Given the description of an element on the screen output the (x, y) to click on. 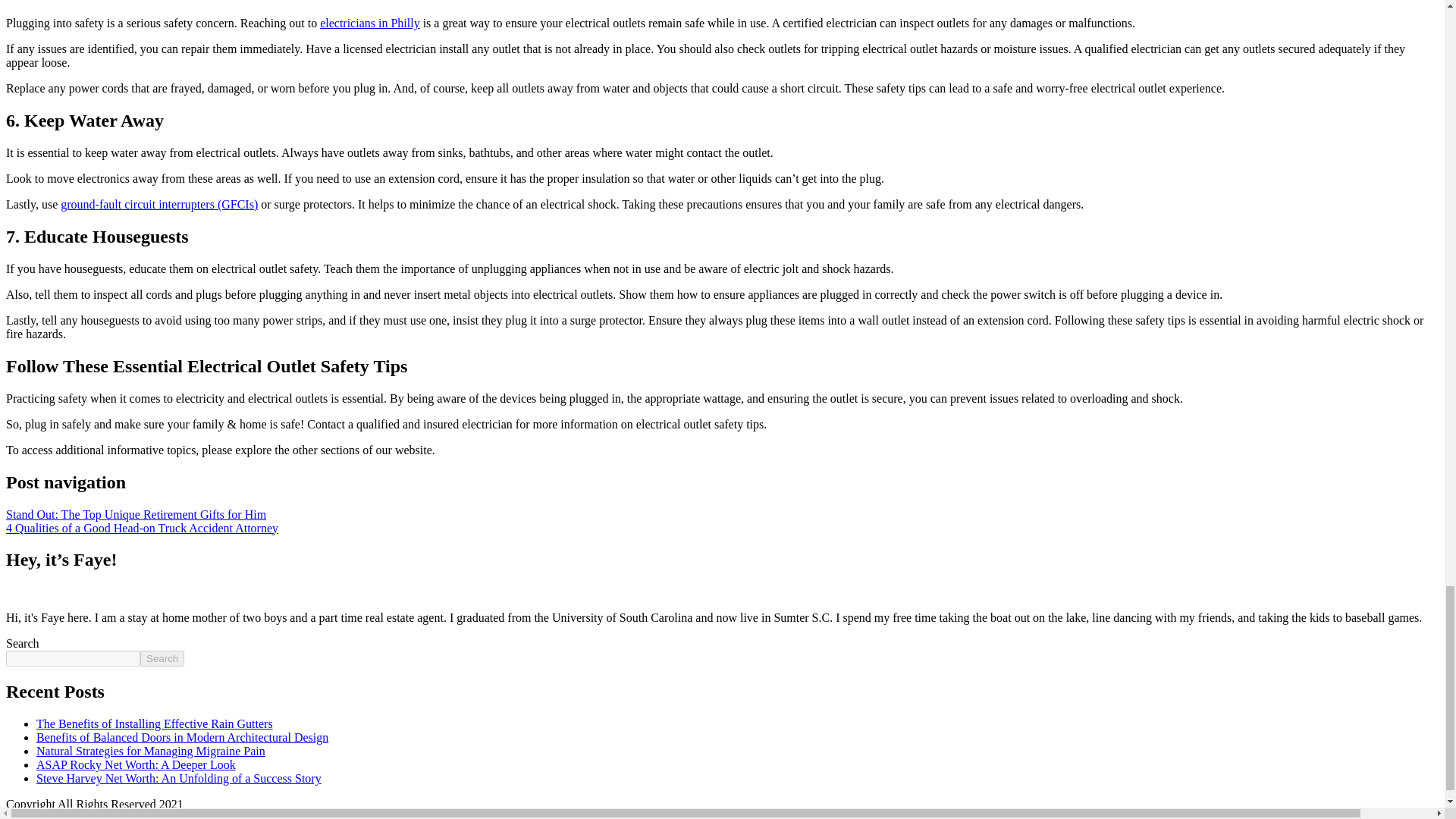
Stand Out: The Top Unique Retirement Gifts for Him (135, 513)
4 Qualities of a Good Head-on Truck Accident Attorney (141, 527)
Steve Harvey Net Worth: An Unfolding of a Success Story (178, 778)
ASAP Rocky Net Worth: A Deeper Look (135, 764)
Search (161, 658)
electricians in Philly (370, 22)
Benefits of Balanced Doors in Modern Architectural Design (182, 737)
Natural Strategies for Managing Migraine Pain (150, 750)
The Benefits of Installing Effective Rain Gutters (154, 723)
